Given the description of an element on the screen output the (x, y) to click on. 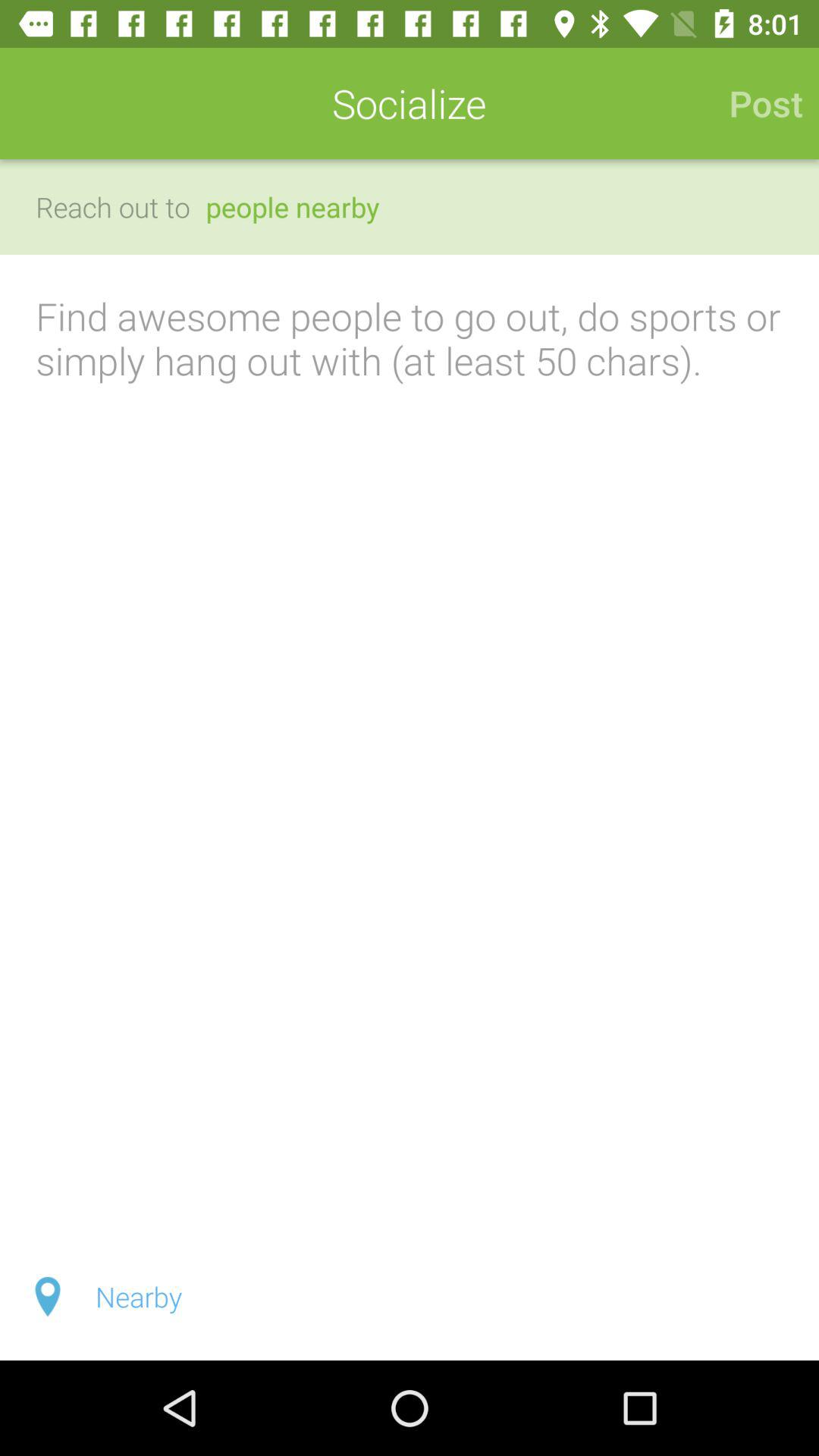
open the icon to the right of socialize icon (758, 103)
